Given the description of an element on the screen output the (x, y) to click on. 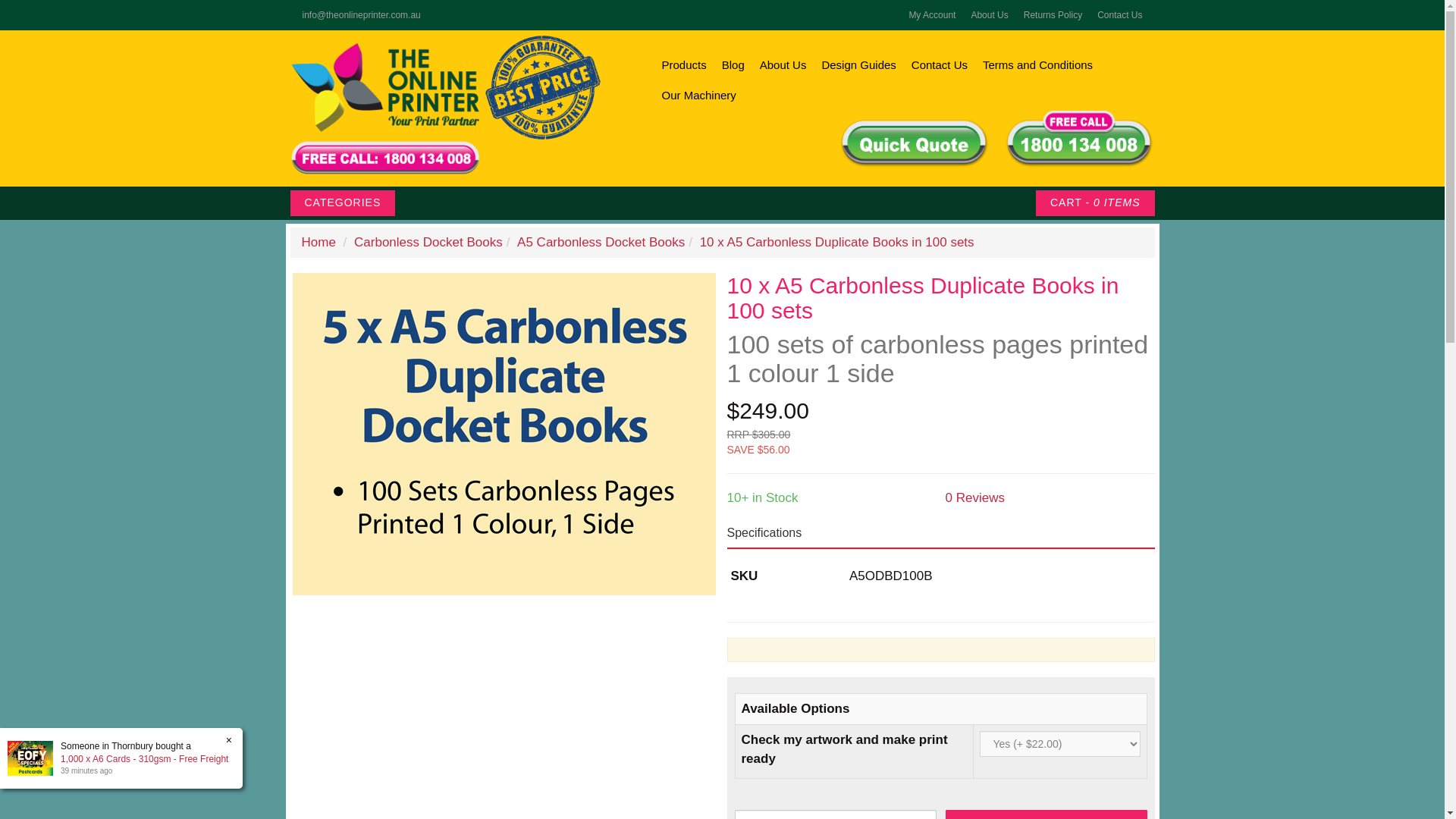
Contact Us (1119, 15)
Products (683, 64)
Blog (733, 64)
Add to Cart (1045, 814)
Our Machinery (697, 95)
Design Guides (857, 64)
My Account (931, 15)
1 (834, 814)
Returns Policy (1052, 15)
About Us (988, 15)
About Us (782, 64)
CATEGORIES (341, 203)
Contact Us (939, 64)
Terms and Conditions (1037, 64)
The Online Printer (384, 108)
